Given the description of an element on the screen output the (x, y) to click on. 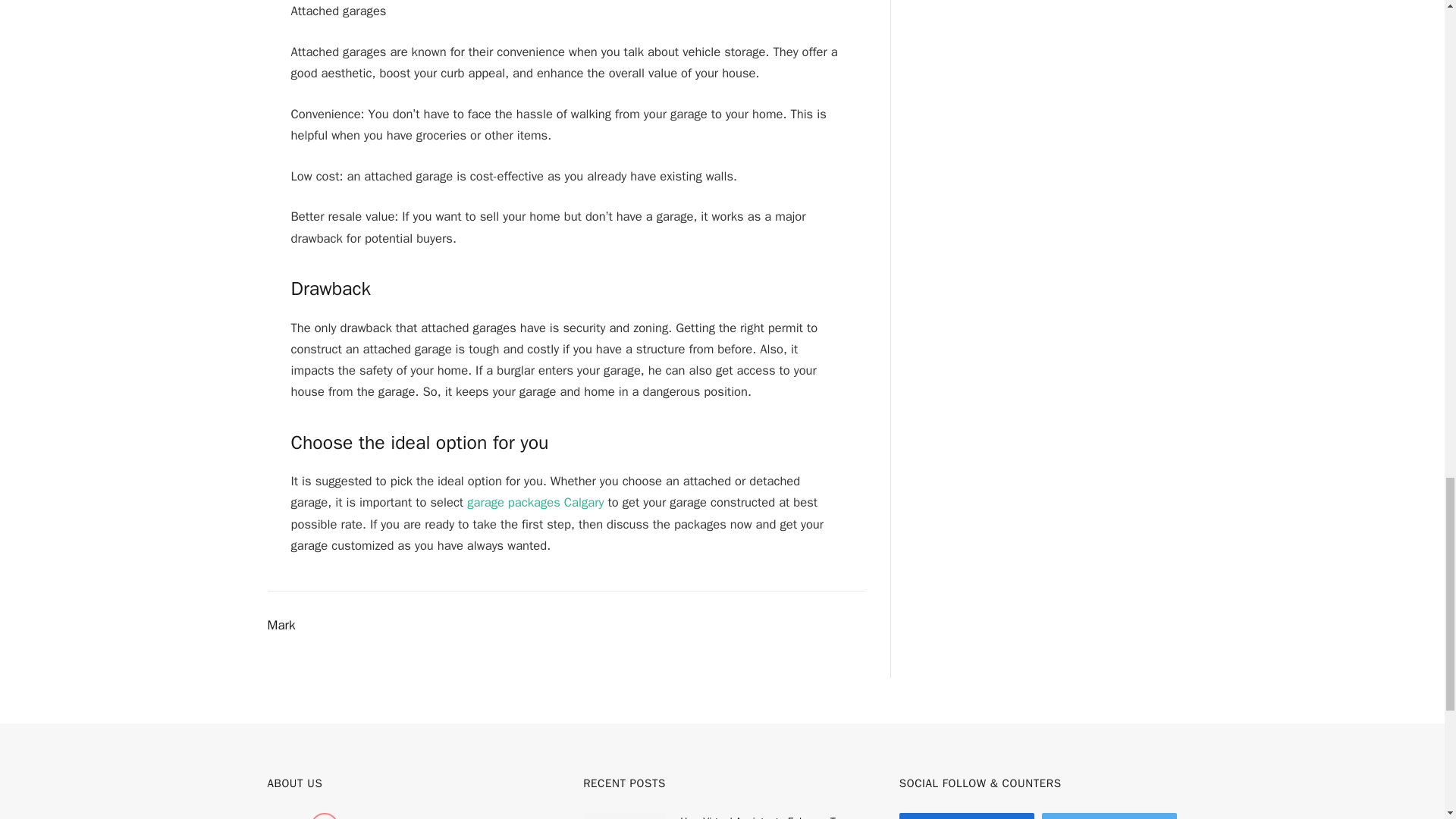
garage packages Calgary (535, 502)
Mark (280, 625)
Posts by Mark (280, 625)
